Given the description of an element on the screen output the (x, y) to click on. 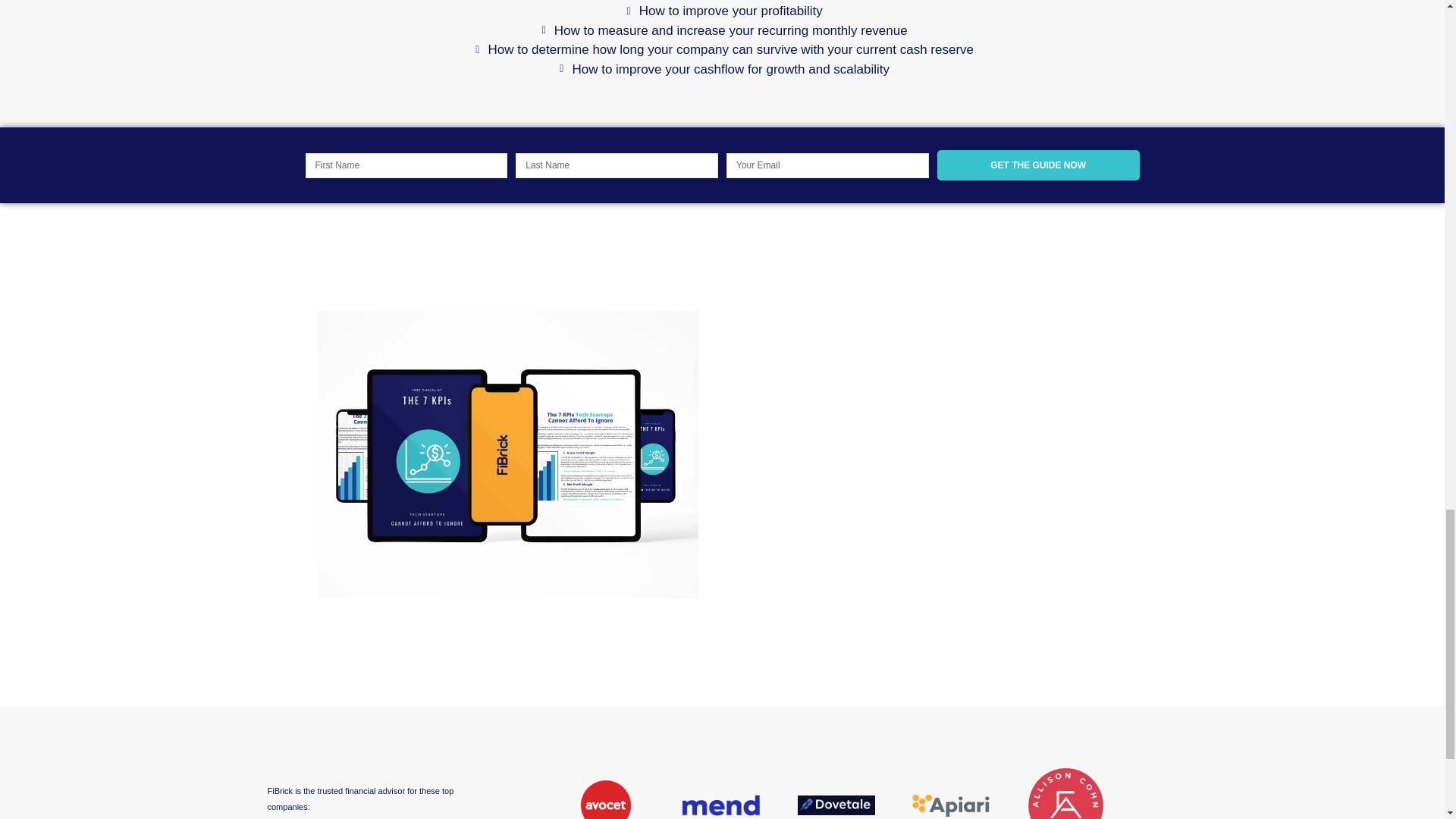
GET THE GUIDE NOW (1038, 164)
